Given the description of an element on the screen output the (x, y) to click on. 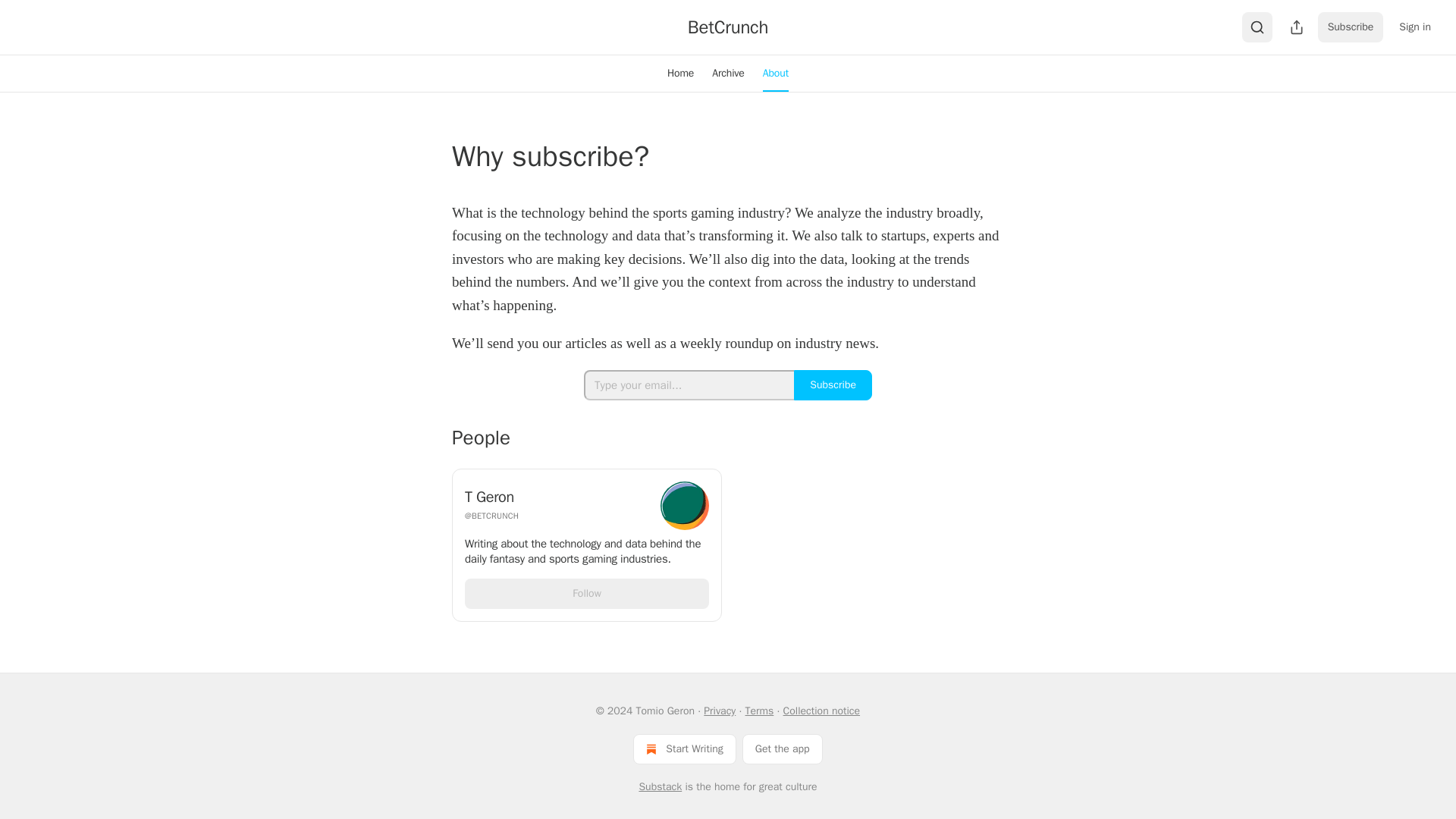
Privacy (719, 710)
T Geron (557, 497)
Start Writing (684, 748)
BetCrunch (727, 26)
Sign in (1415, 27)
Collection notice (821, 710)
Subscribe (832, 385)
Archive (728, 73)
Subscribe (1350, 27)
Follow (586, 593)
Home (680, 73)
About (775, 73)
Terms (759, 710)
Get the app (782, 748)
Substack (660, 786)
